Given the description of an element on the screen output the (x, y) to click on. 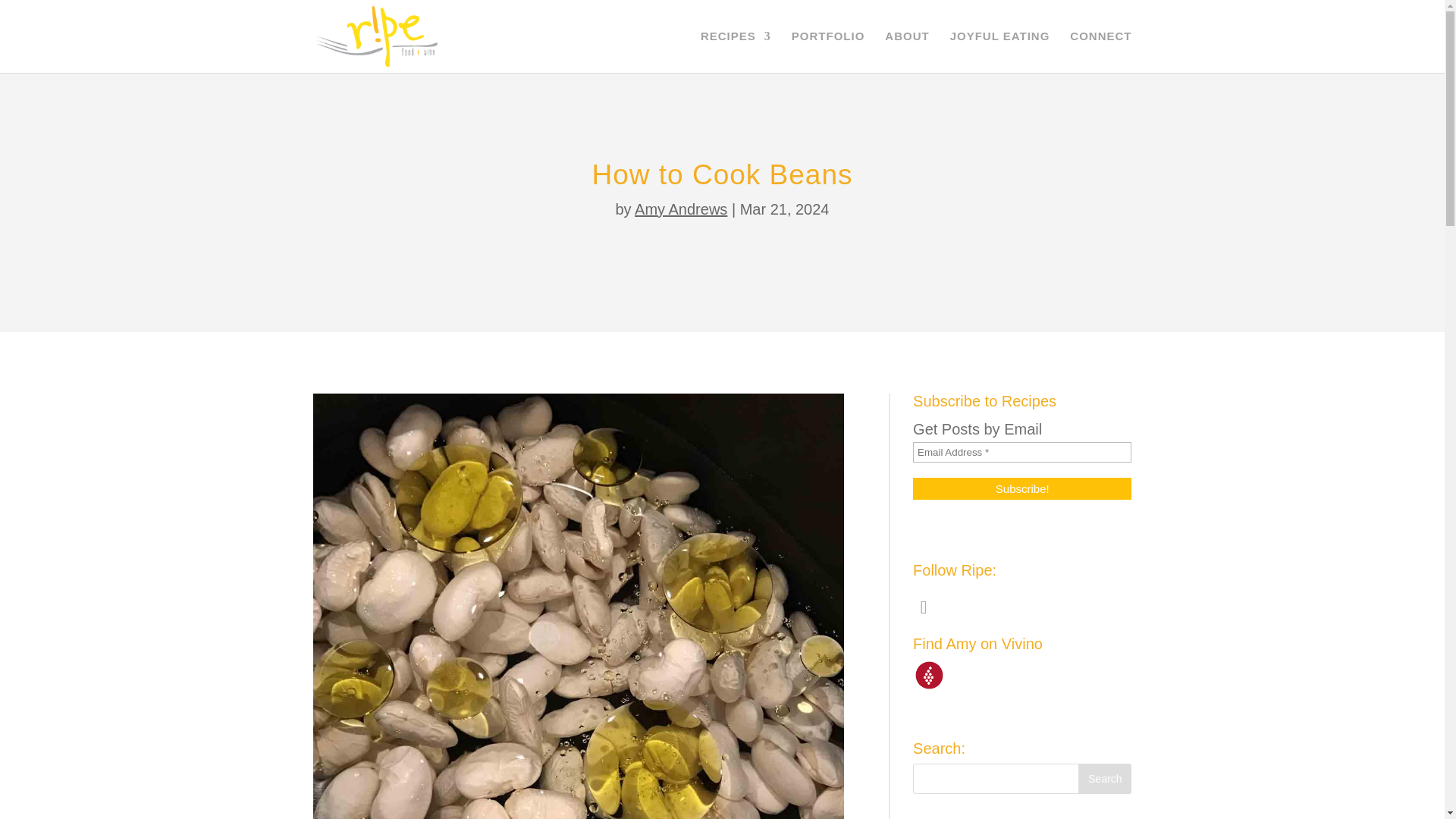
Search (1104, 778)
Search (1104, 778)
CONNECT (1100, 51)
Email Address (1021, 452)
Subscribe! (1021, 488)
PORTFOLIO (828, 51)
Subscribe! (1021, 488)
RECIPES (735, 51)
JOYFUL EATING (999, 51)
Posts by Amy Andrews (680, 208)
